Given the description of an element on the screen output the (x, y) to click on. 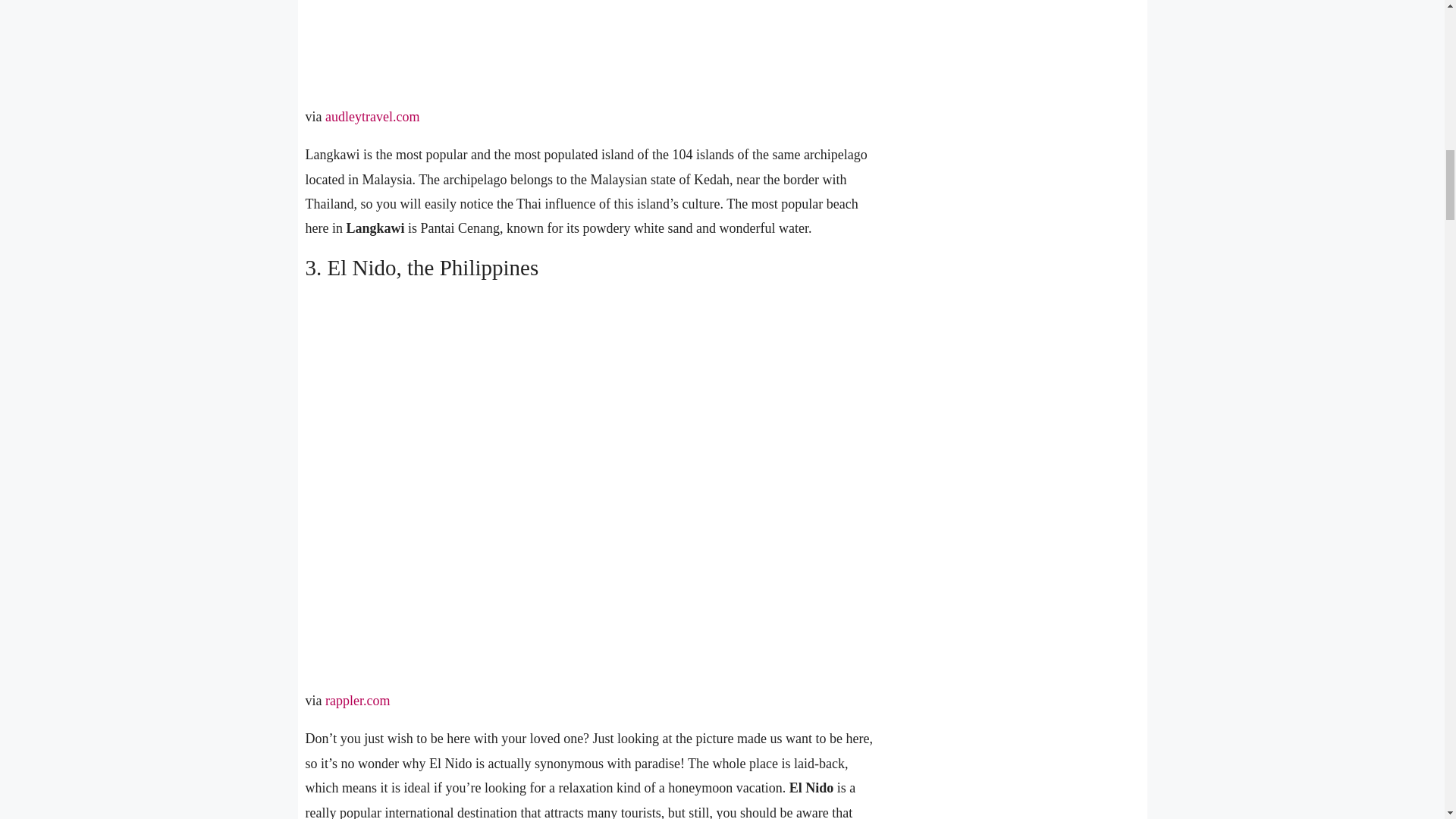
rappler.com (357, 700)
Langkawi-Malaysia (583, 41)
audleytravel.com (371, 116)
